Given the description of an element on the screen output the (x, y) to click on. 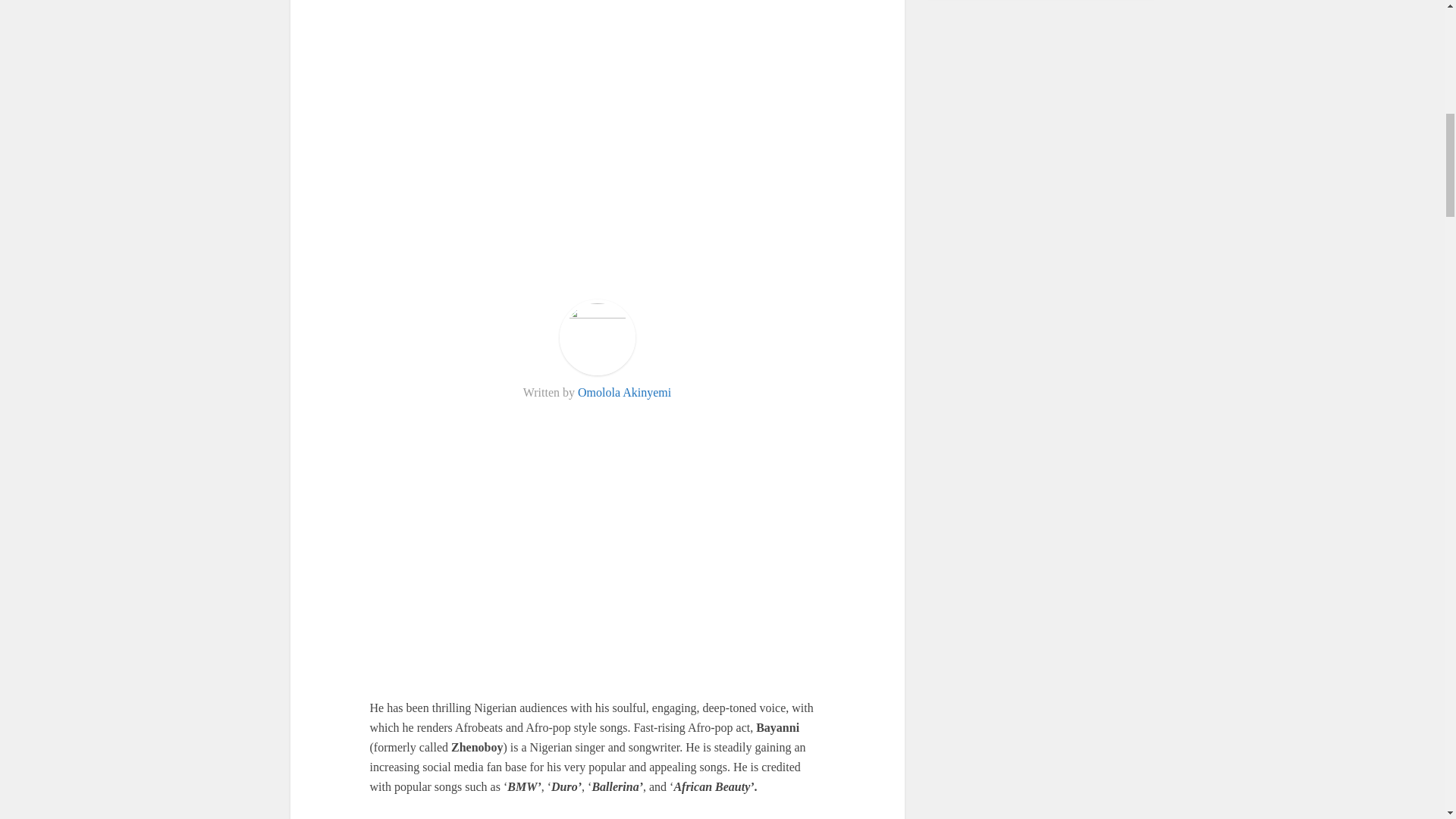
Omolola Akinyemi (624, 391)
